Given the description of an element on the screen output the (x, y) to click on. 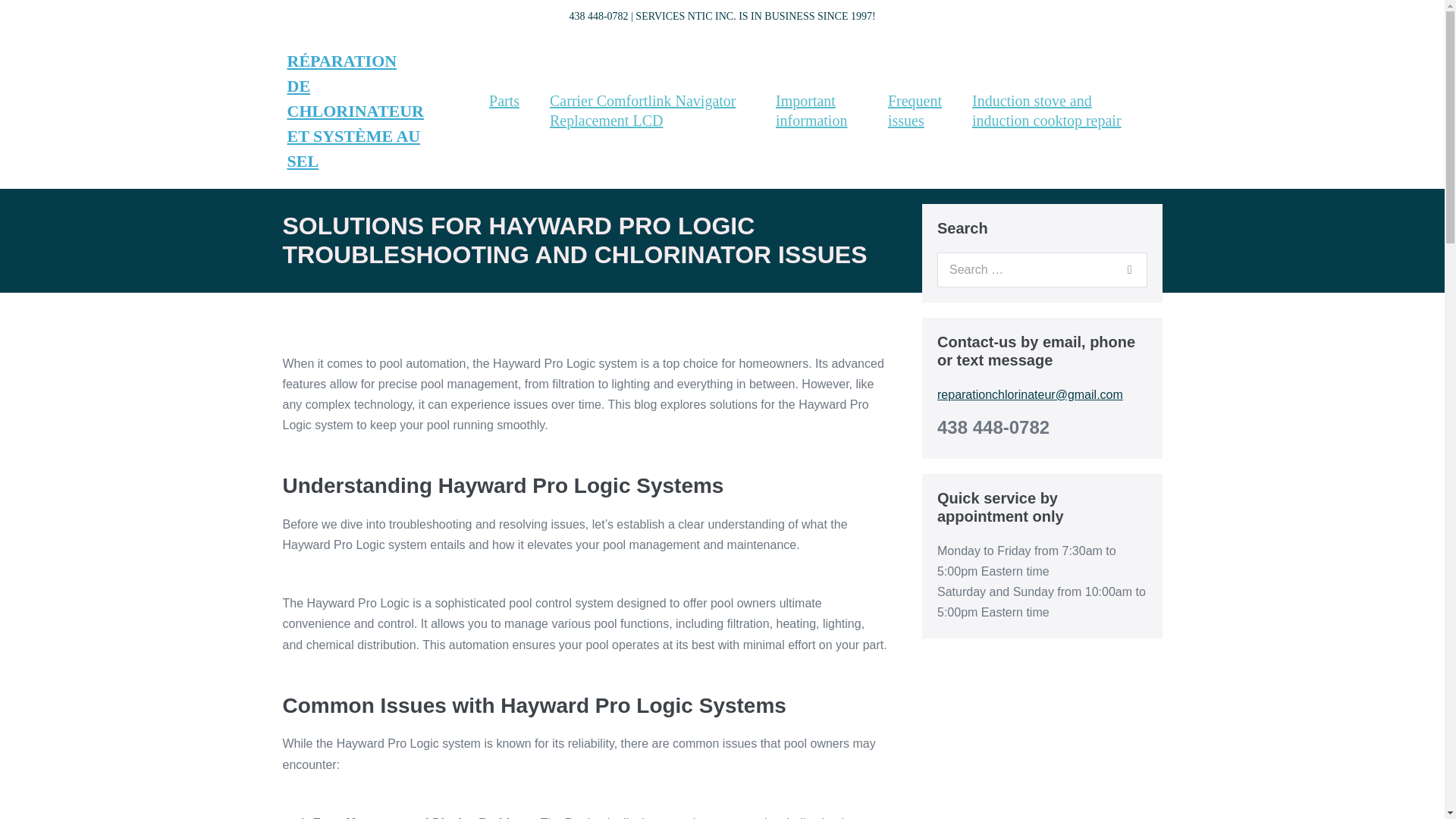
Frequent issues (914, 110)
Induction stove and induction cooktop repair (1058, 110)
Important information (816, 110)
Press enter to search (1042, 269)
Carrier Comfortlink Navigator Replacement LCD (647, 110)
Parts (504, 100)
